Given the description of an element on the screen output the (x, y) to click on. 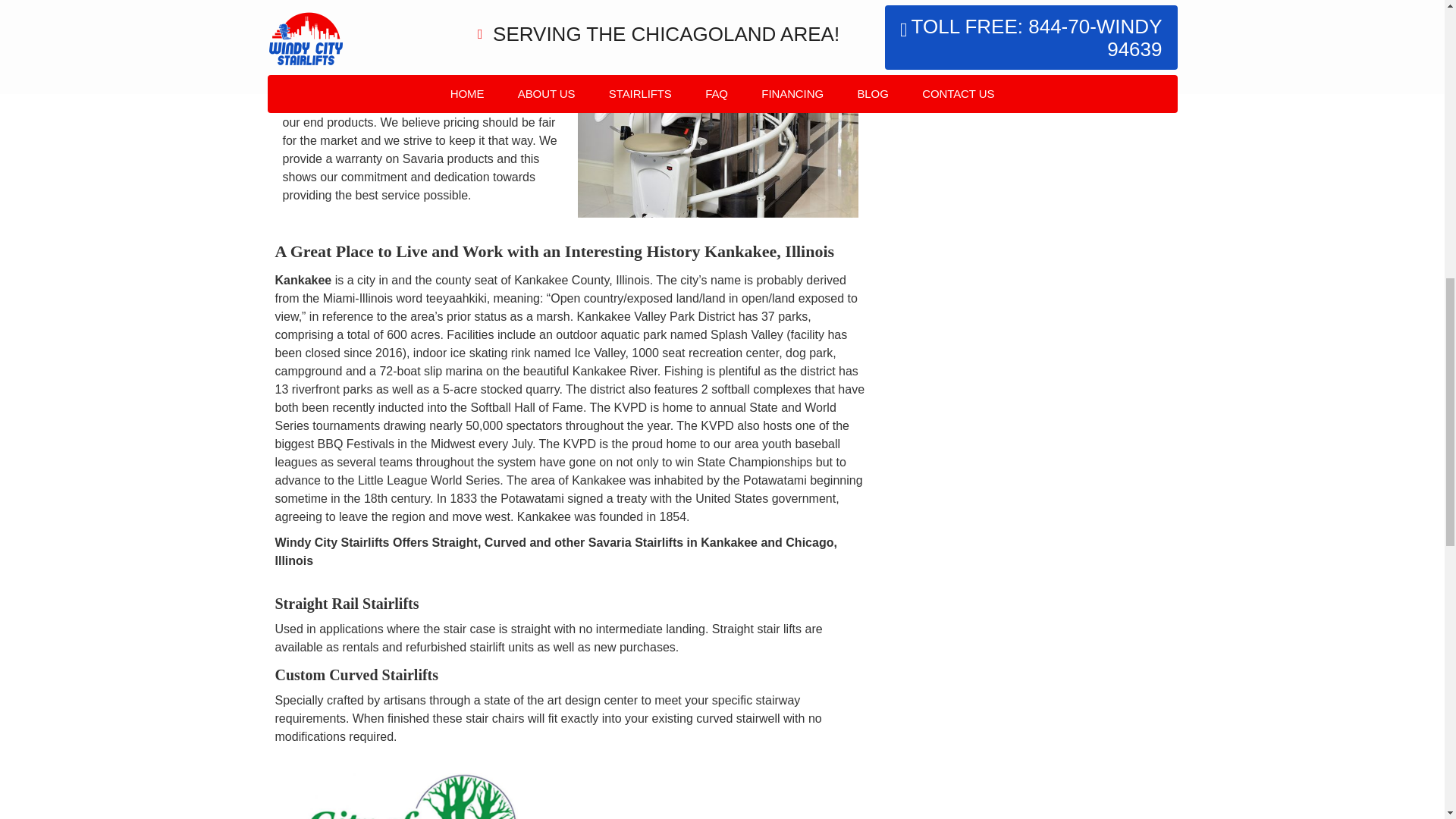
Custom Curved Stairlifts (356, 674)
Straight Rail Stairlifts (347, 603)
